Given the description of an element on the screen output the (x, y) to click on. 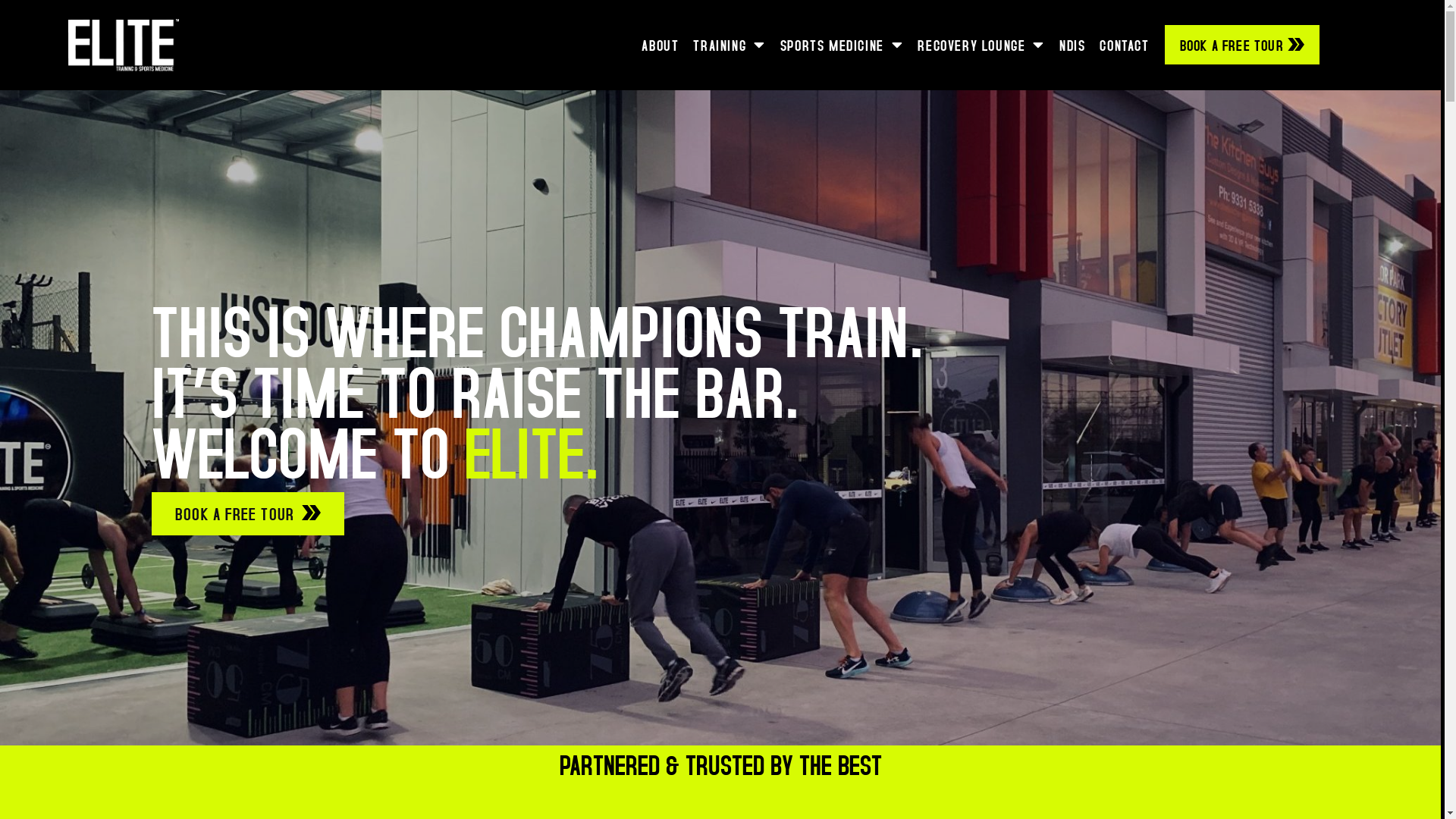
ABOUT Element type: text (659, 44)
CONTACT Element type: text (1123, 44)
BOOK A FREE TOUR Element type: text (247, 513)
RECOVERY LOUNGE Element type: text (980, 44)
NDIS Element type: text (1072, 44)
BOOK A FREE TOUR Element type: text (1241, 44)
SPORTS MEDICINE Element type: text (841, 44)
TRAINING Element type: text (729, 44)
